Given the description of an element on the screen output the (x, y) to click on. 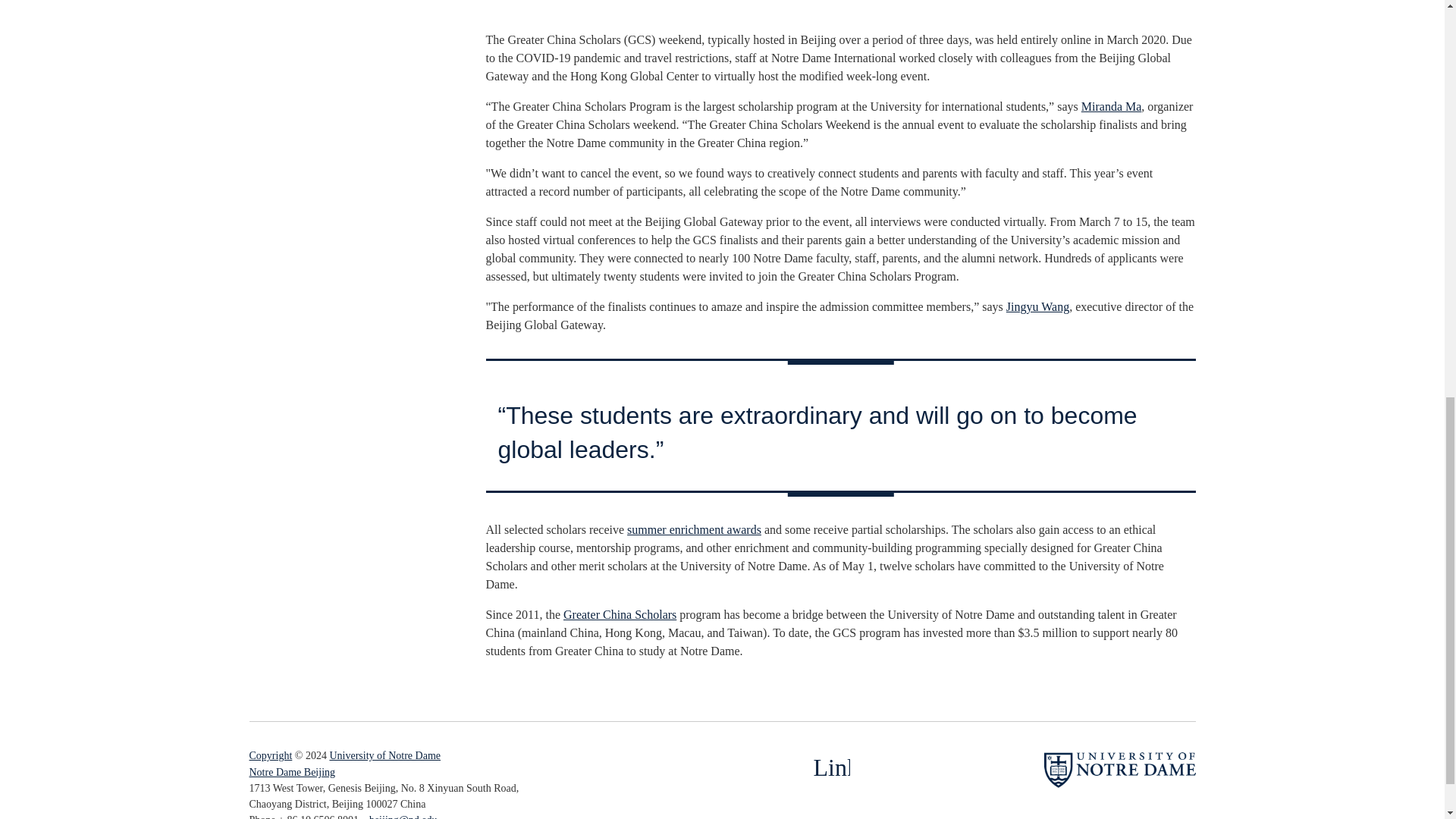
Greater China Scholars (620, 614)
Notre Dame Beijing (291, 772)
summer enrichment awards (694, 529)
University of Notre Dame (385, 755)
Miranda Ma (1111, 106)
Jingyu Wang (1037, 306)
Copyright (270, 755)
